Given the description of an element on the screen output the (x, y) to click on. 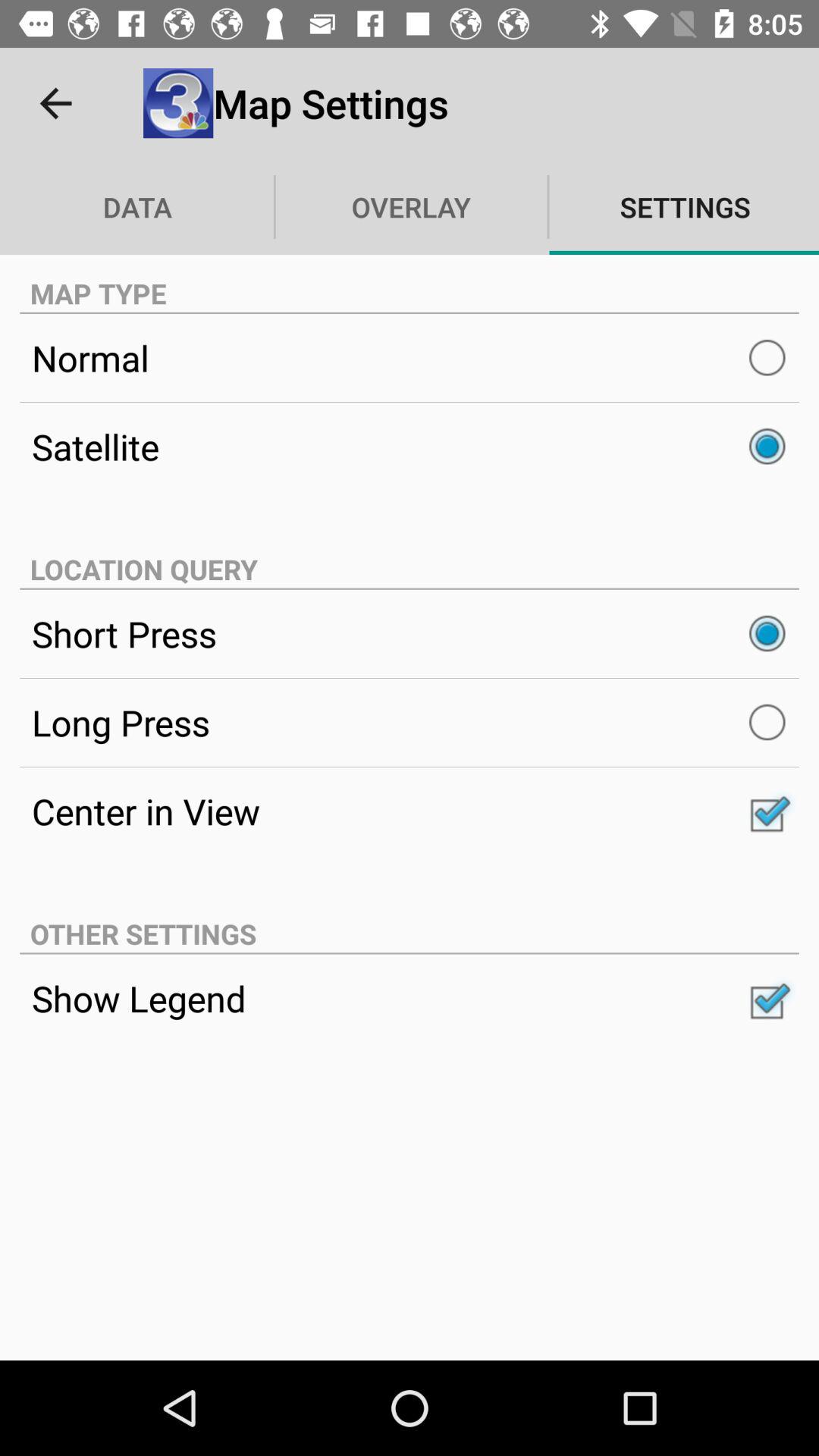
jump until the long press (409, 722)
